Given the description of an element on the screen output the (x, y) to click on. 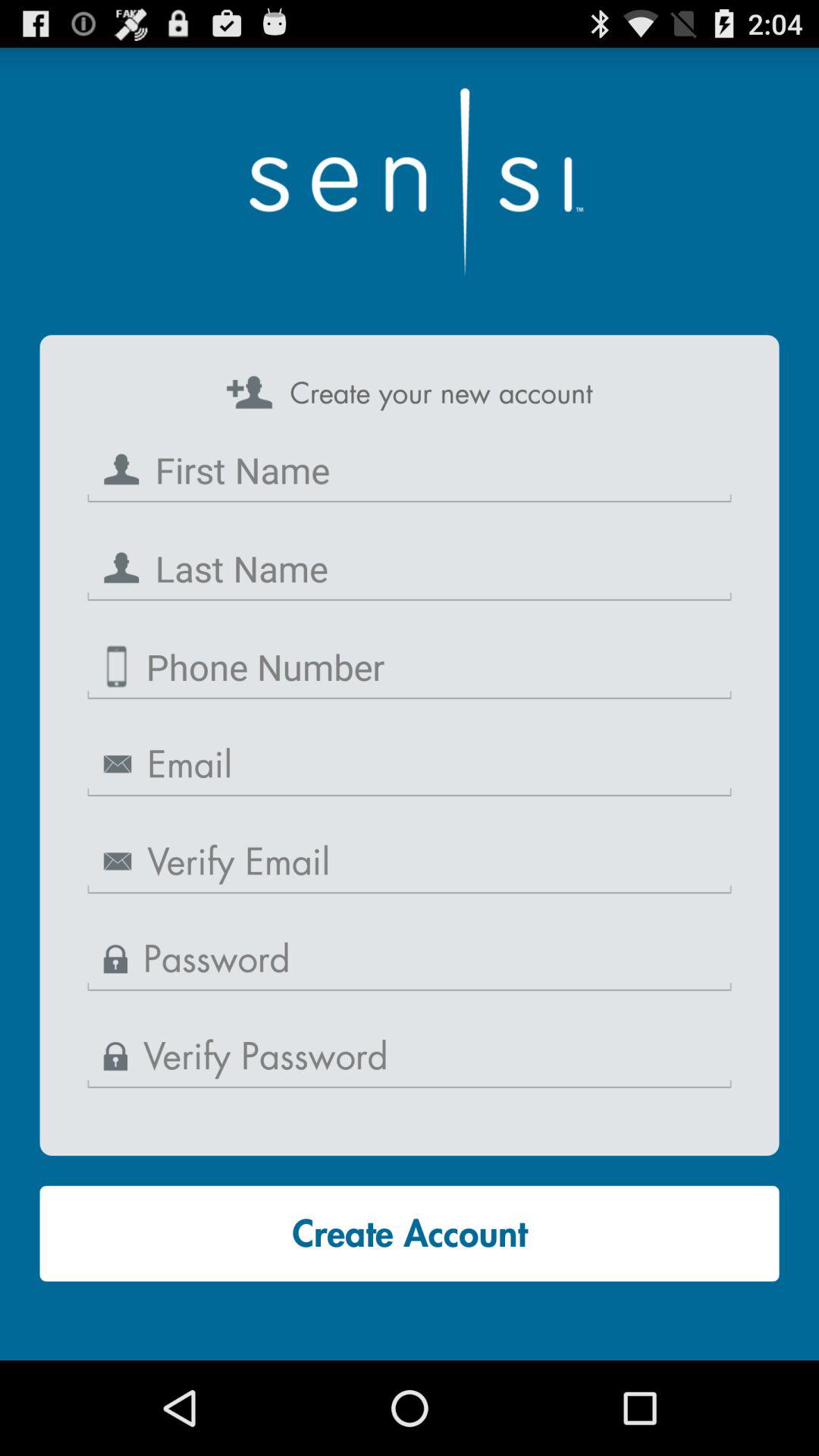
first name (409, 470)
